Given the description of an element on the screen output the (x, y) to click on. 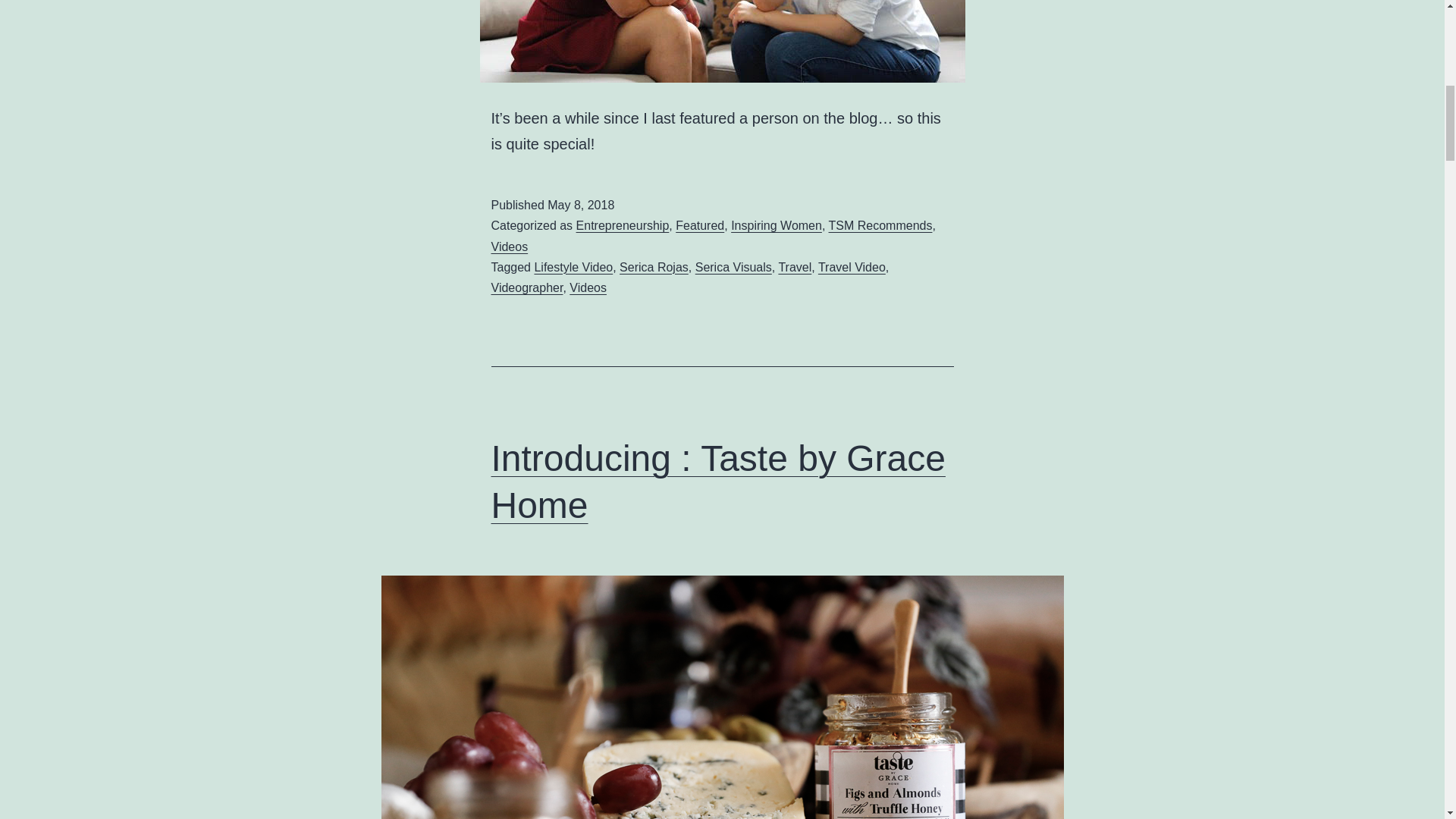
Videographer (527, 287)
Videos (588, 287)
Serica Visuals (733, 267)
Lifestyle Video (573, 267)
Videos (510, 246)
Serica Rojas (654, 267)
Introducing : Taste by Grace Home (718, 481)
Travel Video (851, 267)
TSM Recommends (880, 225)
Featured (699, 225)
Entrepreneurship (622, 225)
Inspiring Women (776, 225)
Travel (793, 267)
